Given the description of an element on the screen output the (x, y) to click on. 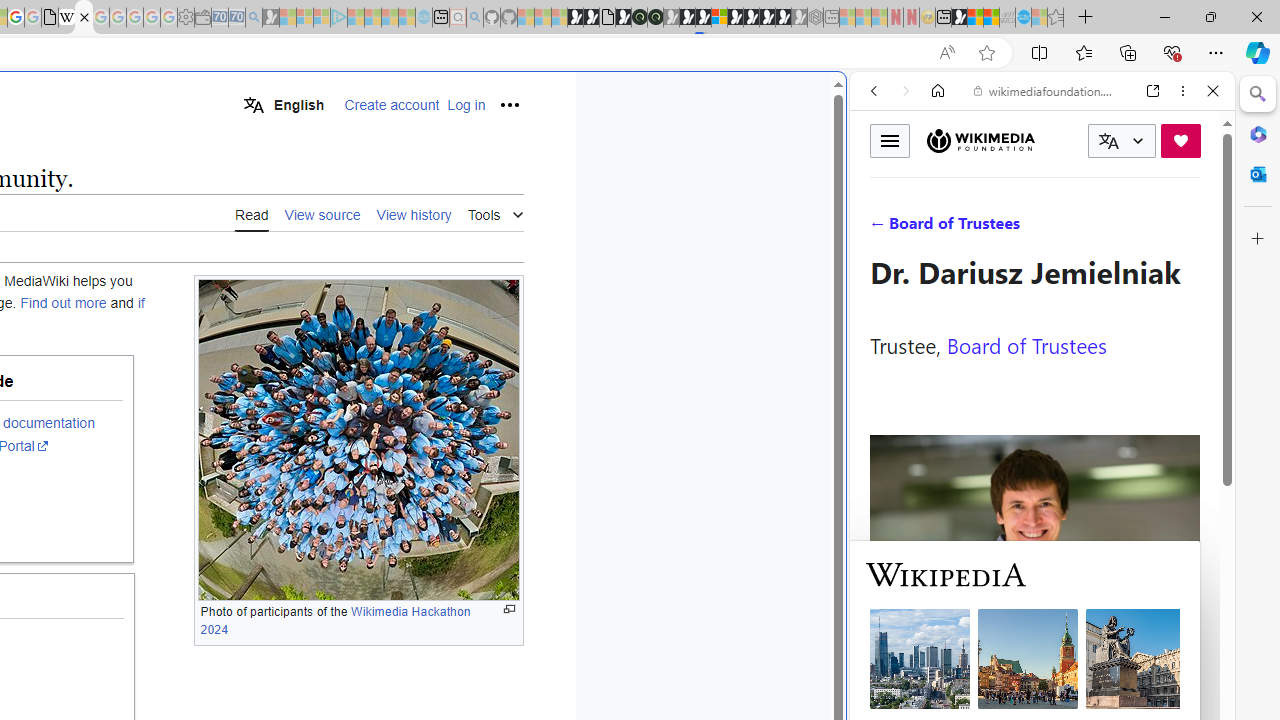
English (283, 104)
Tabs you've opened (276, 265)
Wikimedia Foundation (980, 140)
Log in (466, 105)
